Given the description of an element on the screen output the (x, y) to click on. 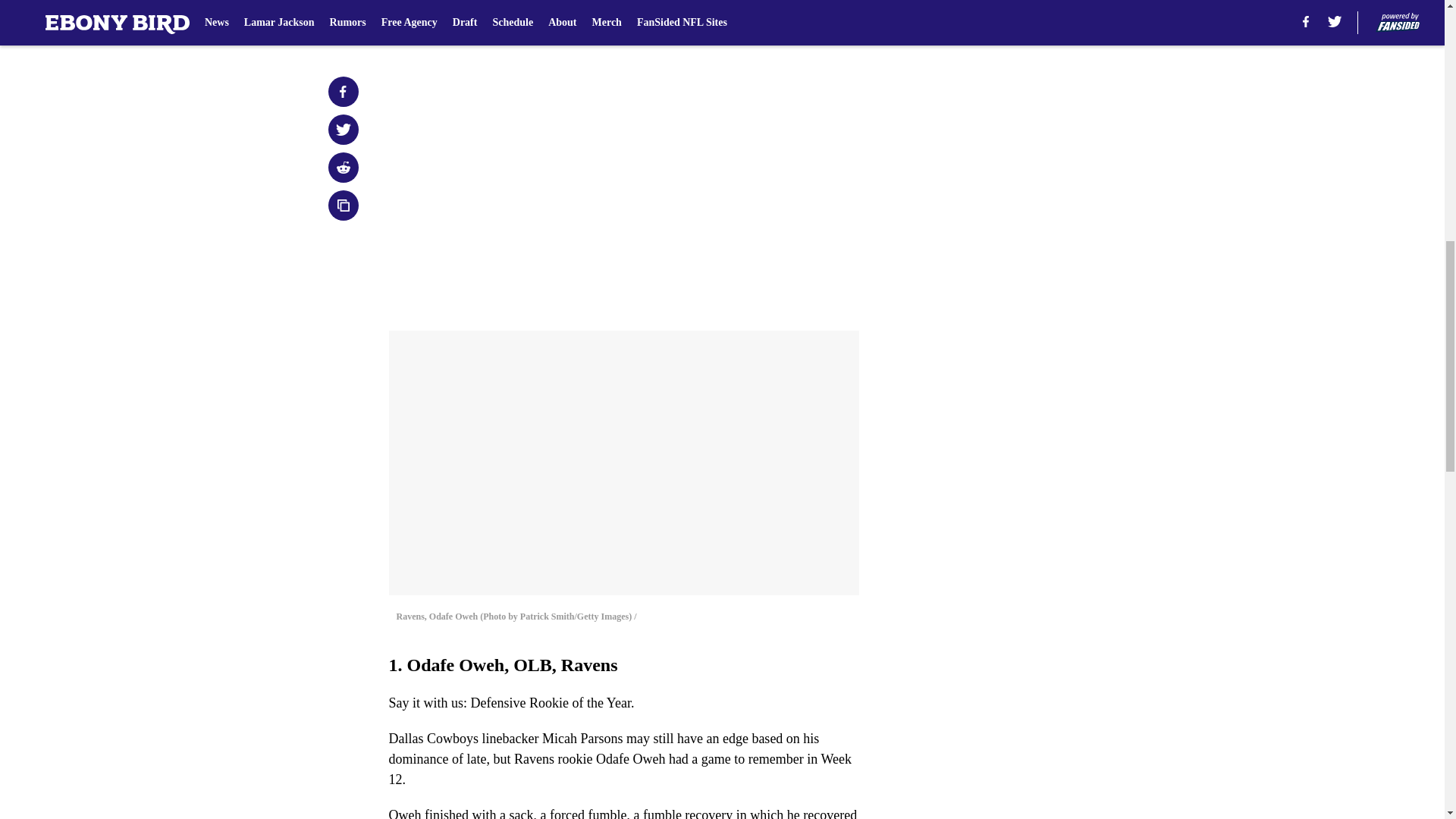
Prev (433, 20)
Next (813, 20)
